Given the description of an element on the screen output the (x, y) to click on. 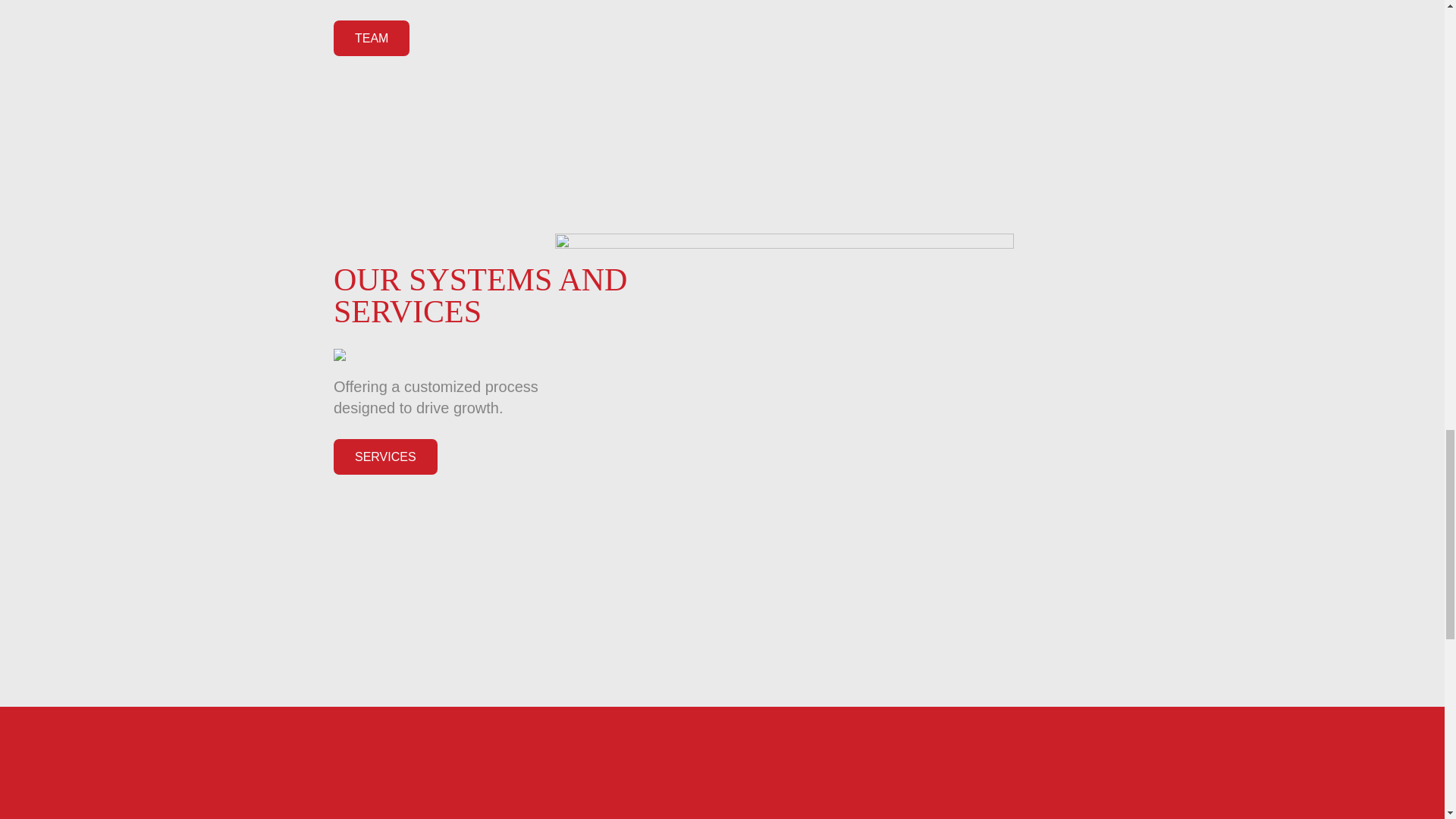
TEAM (371, 38)
SERVICES (385, 456)
